Given the description of an element on the screen output the (x, y) to click on. 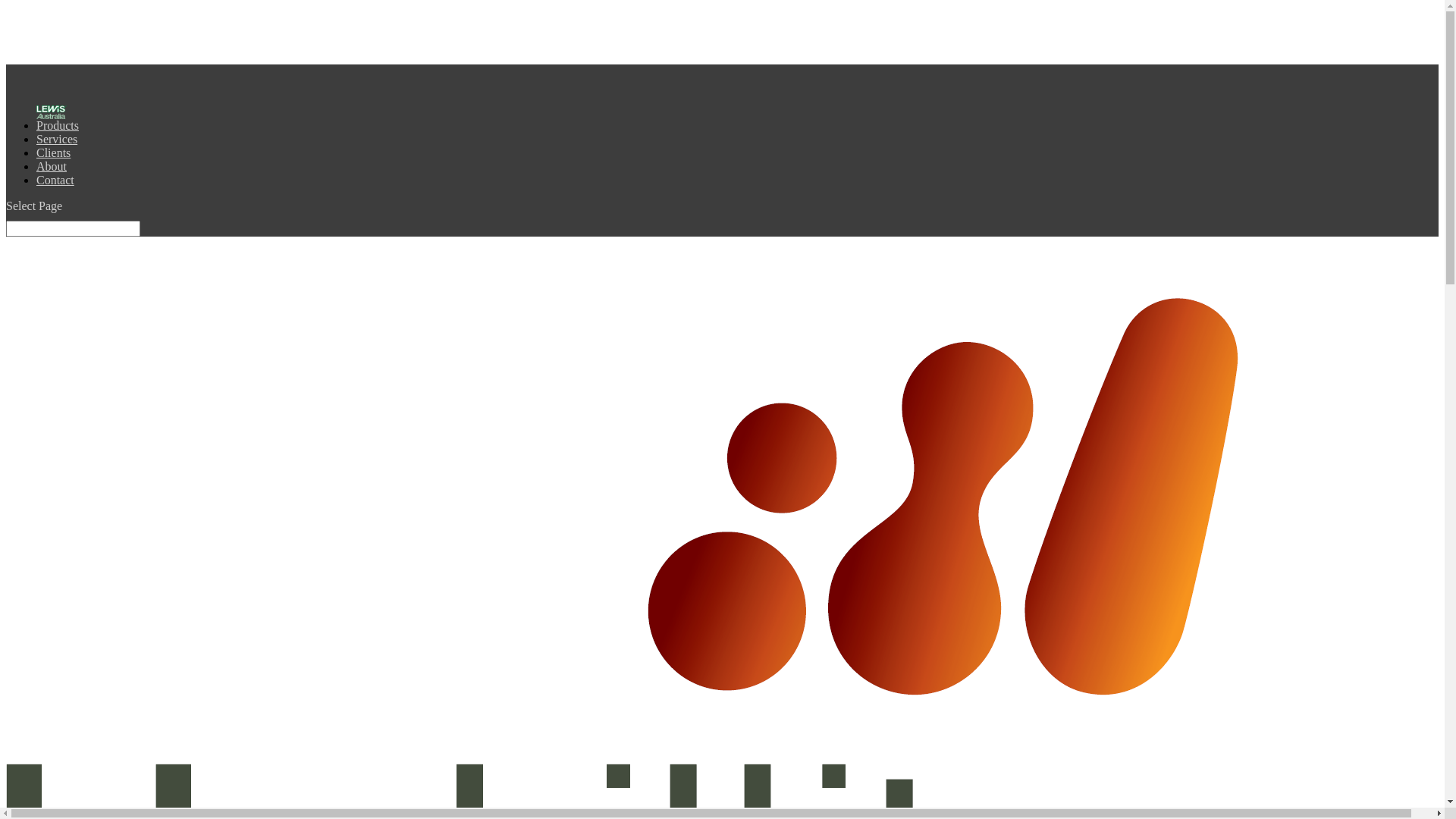
Contact Element type: text (55, 188)
Clients Element type: text (53, 161)
Products Element type: text (57, 134)
Search for: Element type: hover (73, 228)
About Element type: text (51, 175)
Services Element type: text (56, 147)
